Given the description of an element on the screen output the (x, y) to click on. 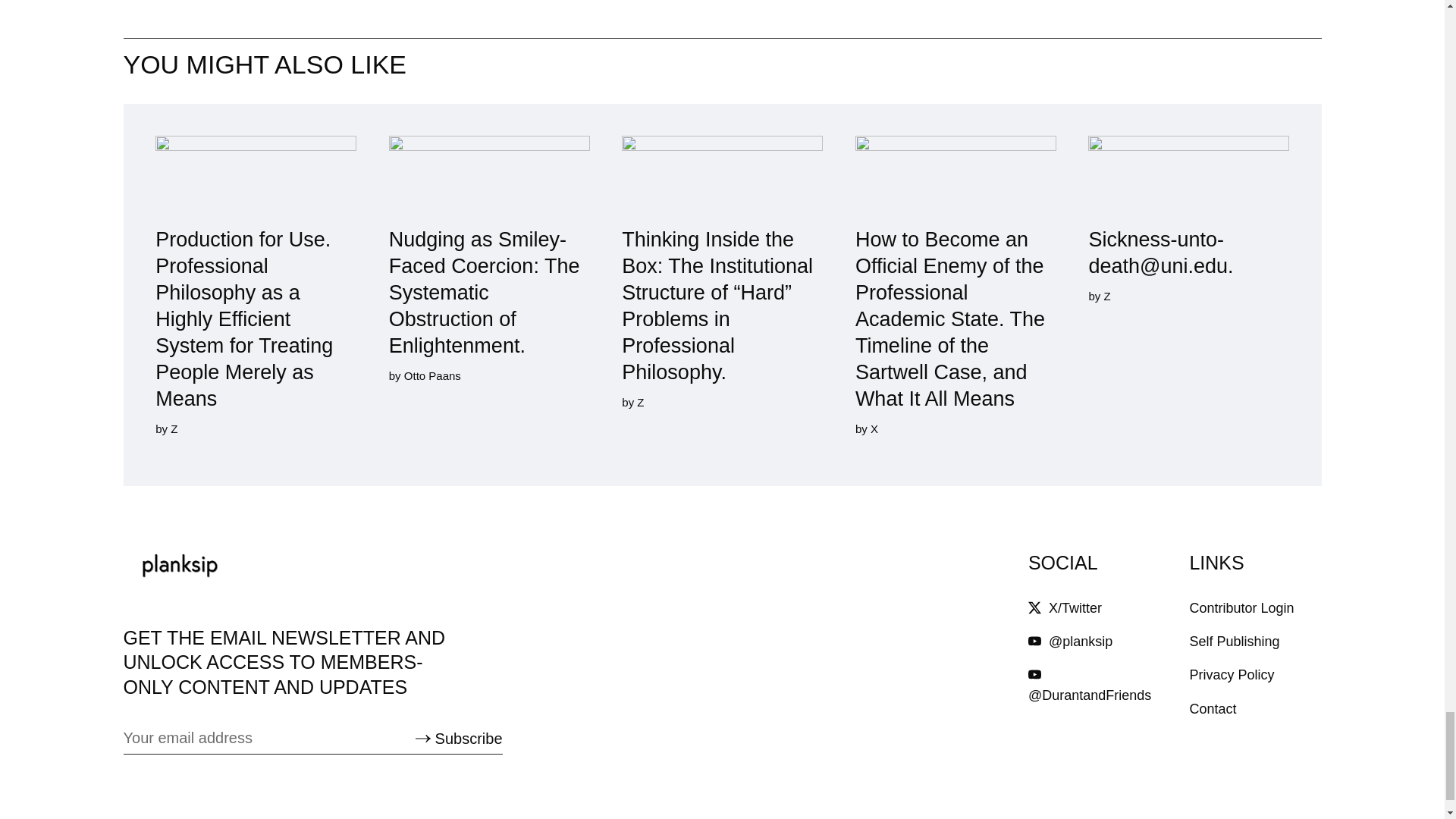
Subscribe (458, 738)
Otto Paans (431, 375)
